Given the description of an element on the screen output the (x, y) to click on. 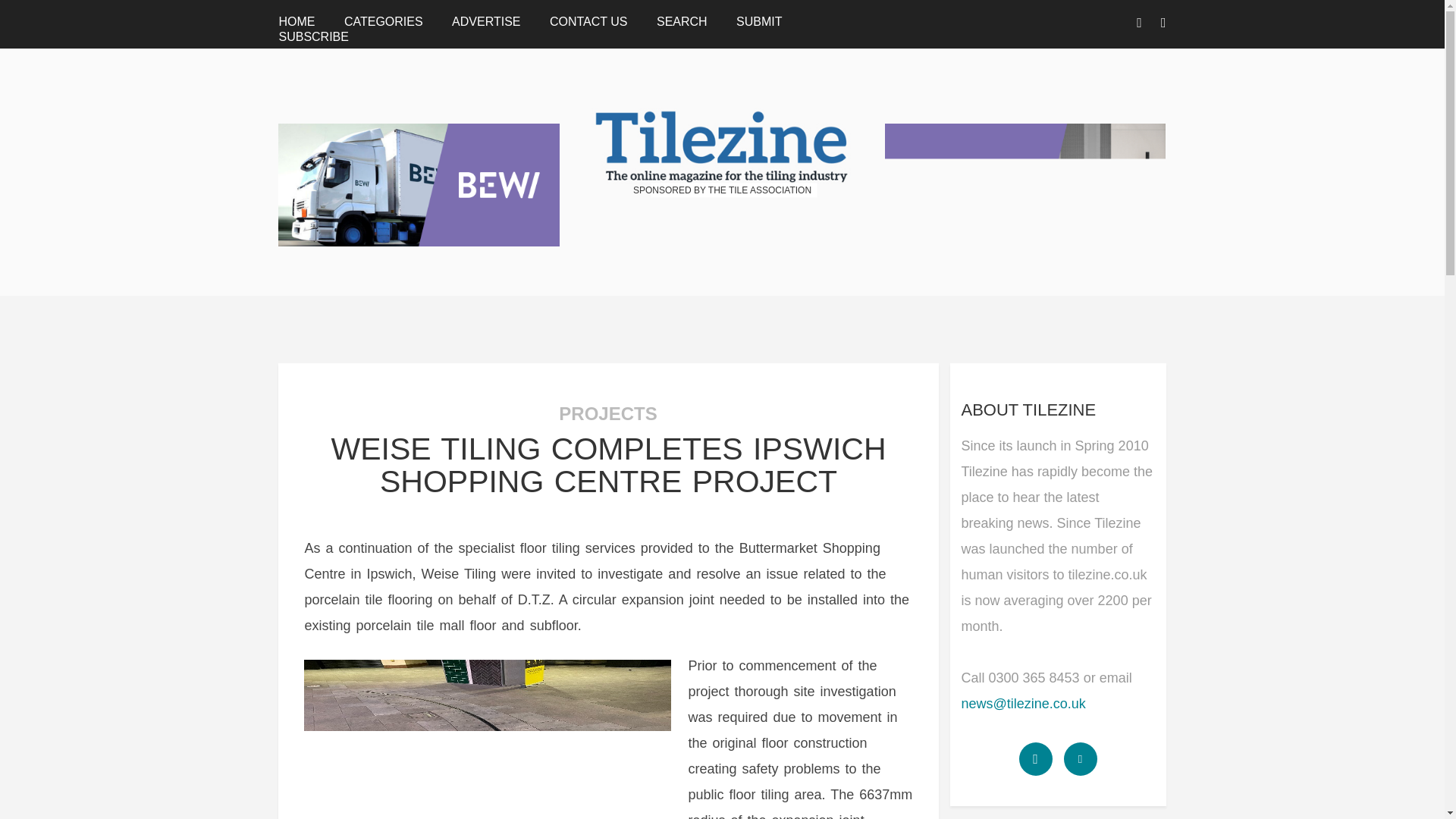
ADVERTISE (485, 21)
SEARCH (681, 21)
CONTACT US (588, 21)
CATEGORIES (383, 21)
PROJECTS (607, 413)
SUBMIT (758, 21)
SUBSCRIBE (312, 37)
HOME (296, 21)
